Given the description of an element on the screen output the (x, y) to click on. 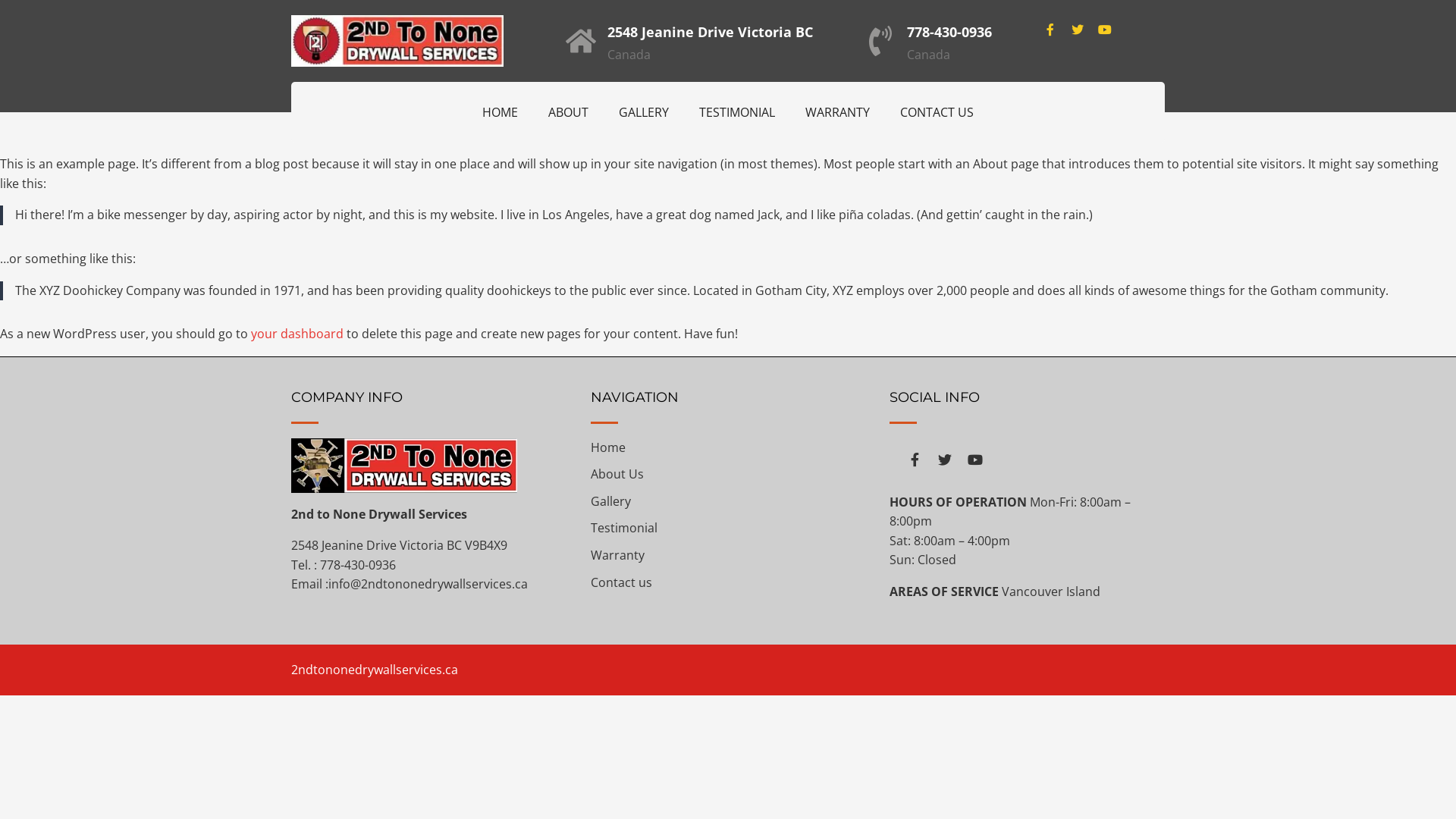
Warranty Element type: text (617, 554)
Contact us Element type: text (621, 582)
HOME Element type: text (500, 111)
WARRANTY Element type: text (837, 111)
Gallery Element type: text (610, 500)
GALLERY Element type: text (643, 111)
About Us Element type: text (616, 473)
Testimonial Element type: text (623, 527)
ABOUT Element type: text (568, 111)
CONTACT US Element type: text (936, 111)
TESTIMONIAL Element type: text (737, 111)
your dashboard Element type: text (297, 333)
Home Element type: text (607, 447)
